Given the description of an element on the screen output the (x, y) to click on. 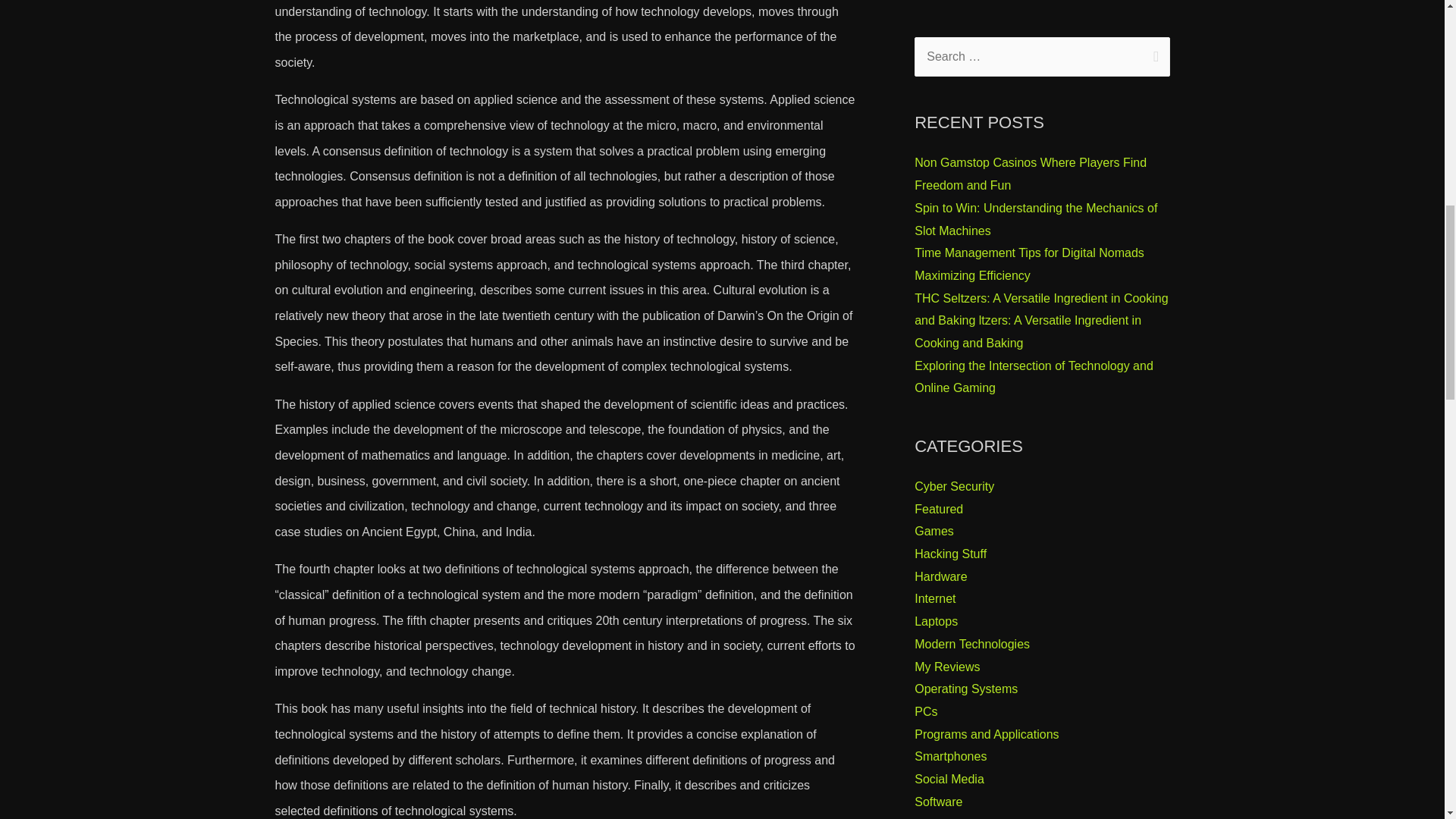
Games (933, 530)
Spin to Win: Understanding the Mechanics of Slot Machines (1035, 219)
Search (1152, 51)
Featured (938, 508)
Non Gamstop Casinos Where Players Find Freedom and Fun (1030, 173)
Exploring the Intersection of Technology and Online Gaming (1033, 376)
Search (1152, 51)
Search (1152, 51)
Cyber Security (954, 486)
